Given the description of an element on the screen output the (x, y) to click on. 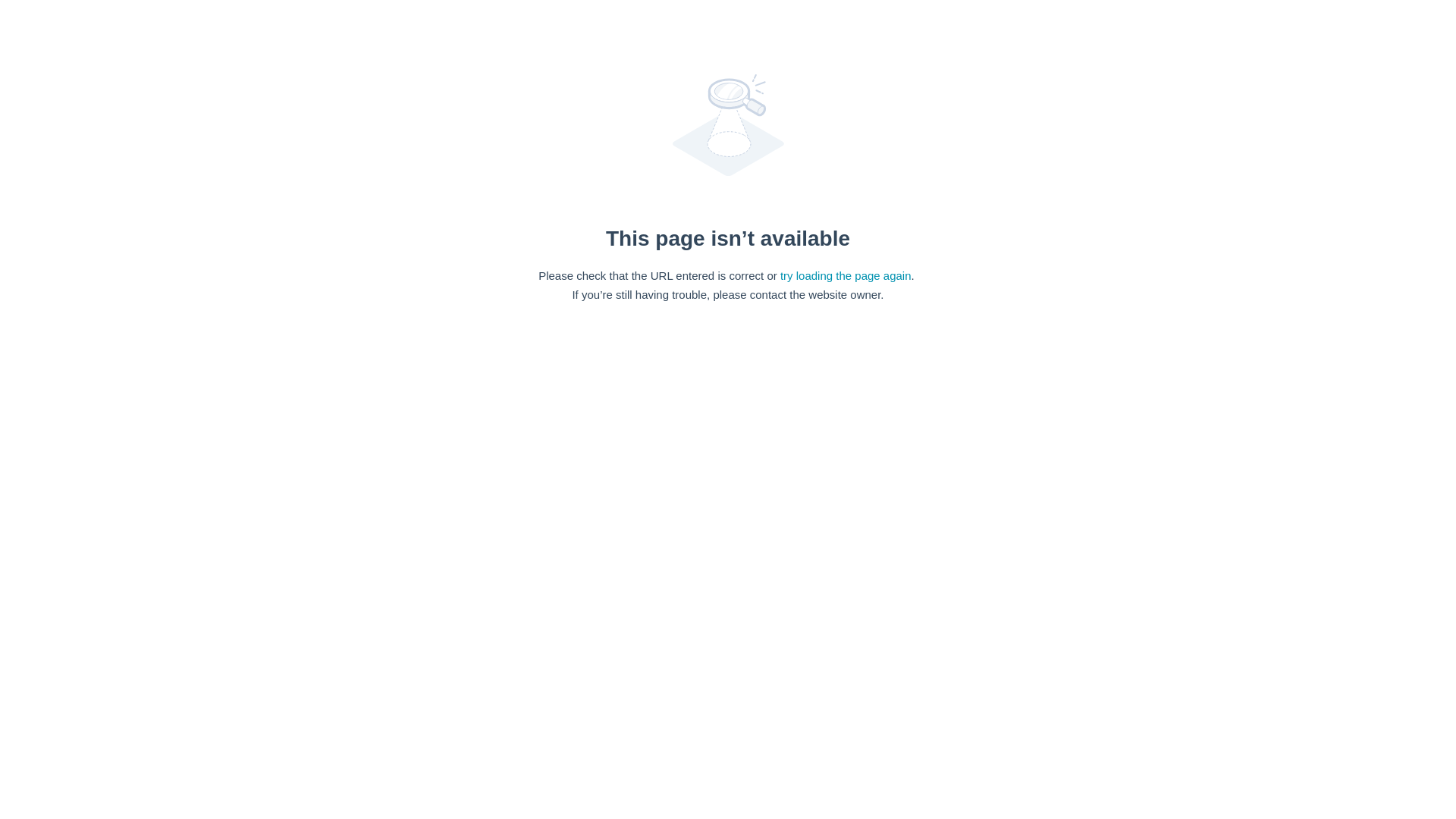
try loading the page again Element type: text (845, 274)
